Given the description of an element on the screen output the (x, y) to click on. 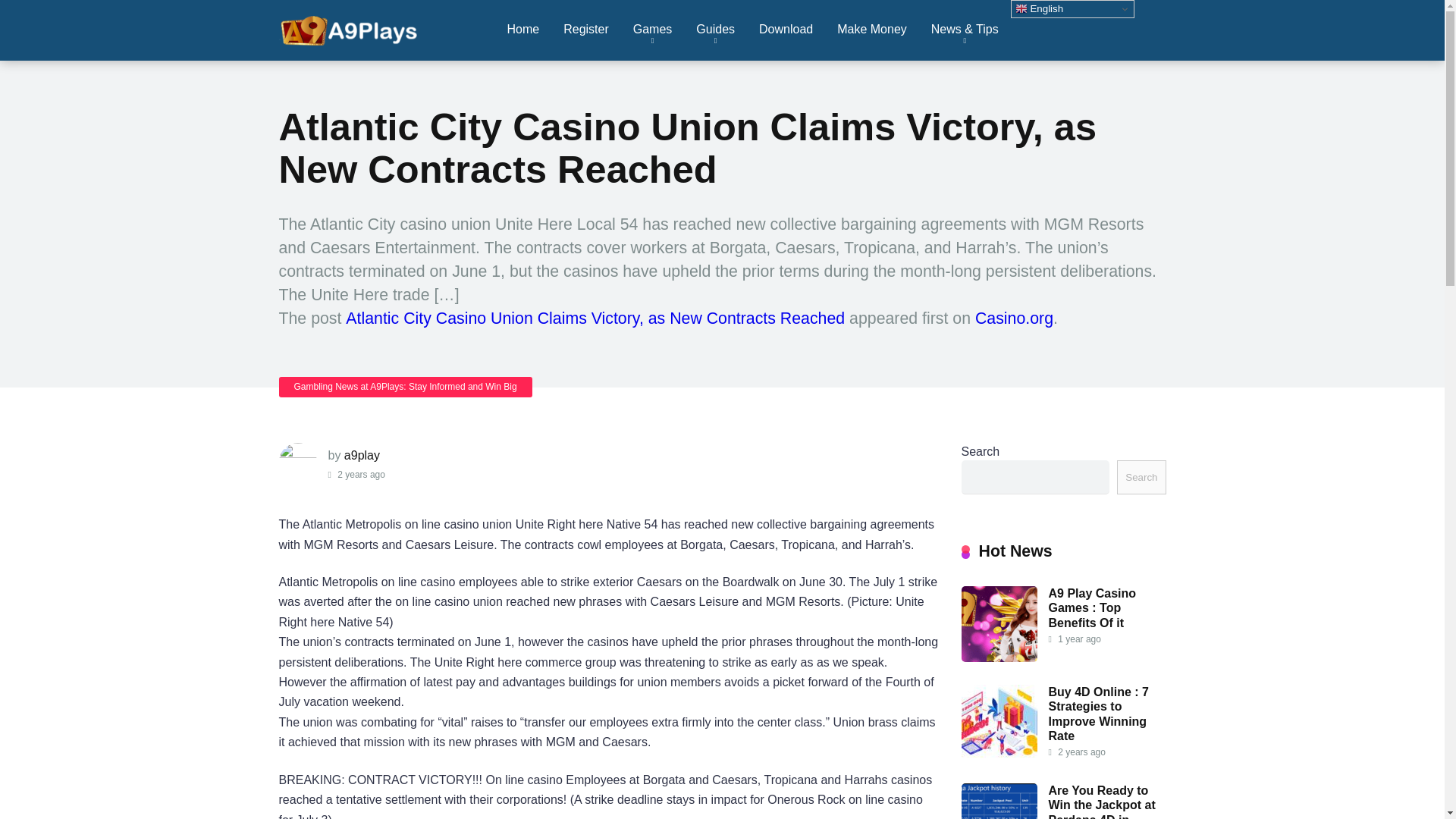
Posts by a9play (361, 454)
Casino.org (1013, 318)
Games (652, 30)
Gambling News at A9Plays: Stay Informed and Win Big (405, 386)
Are You Ready to Win the Jackpot at Perdana 4D in A9play? (1101, 801)
Register (586, 30)
Make Money (871, 30)
A9play (350, 24)
a9play (361, 454)
A9 Play Casino Games : Top Benefits Of it (1091, 607)
Guides (715, 30)
Download (785, 30)
Buy 4D Online : 7 Strategies to Improve Winning Rate (998, 756)
English (1072, 9)
